Given the description of an element on the screen output the (x, y) to click on. 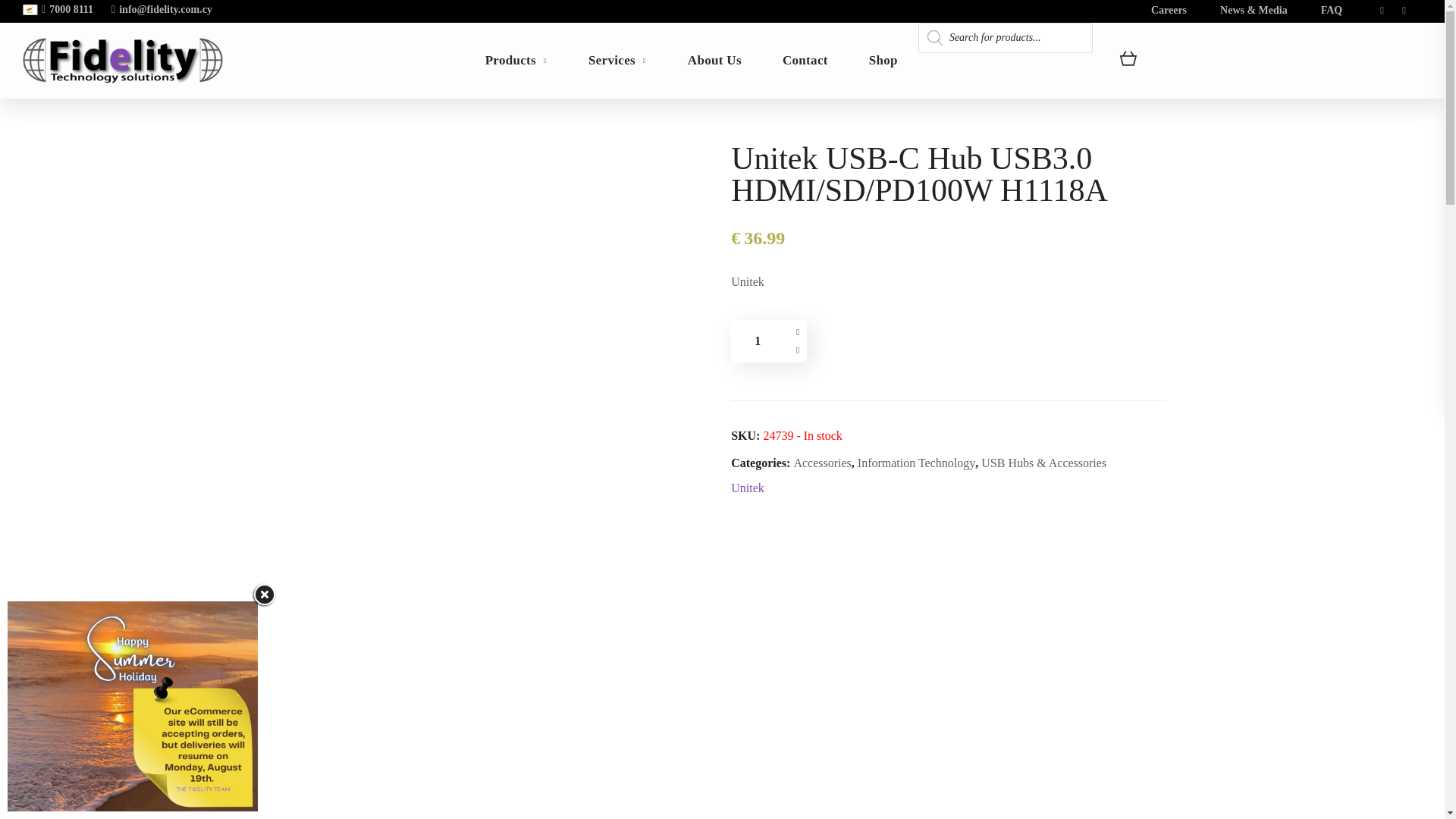
Careers (1168, 9)
1 (757, 341)
View brand (747, 487)
FAQ (1331, 9)
7000 8111 (67, 9)
Qty (757, 341)
Products (515, 60)
